Given the description of an element on the screen output the (x, y) to click on. 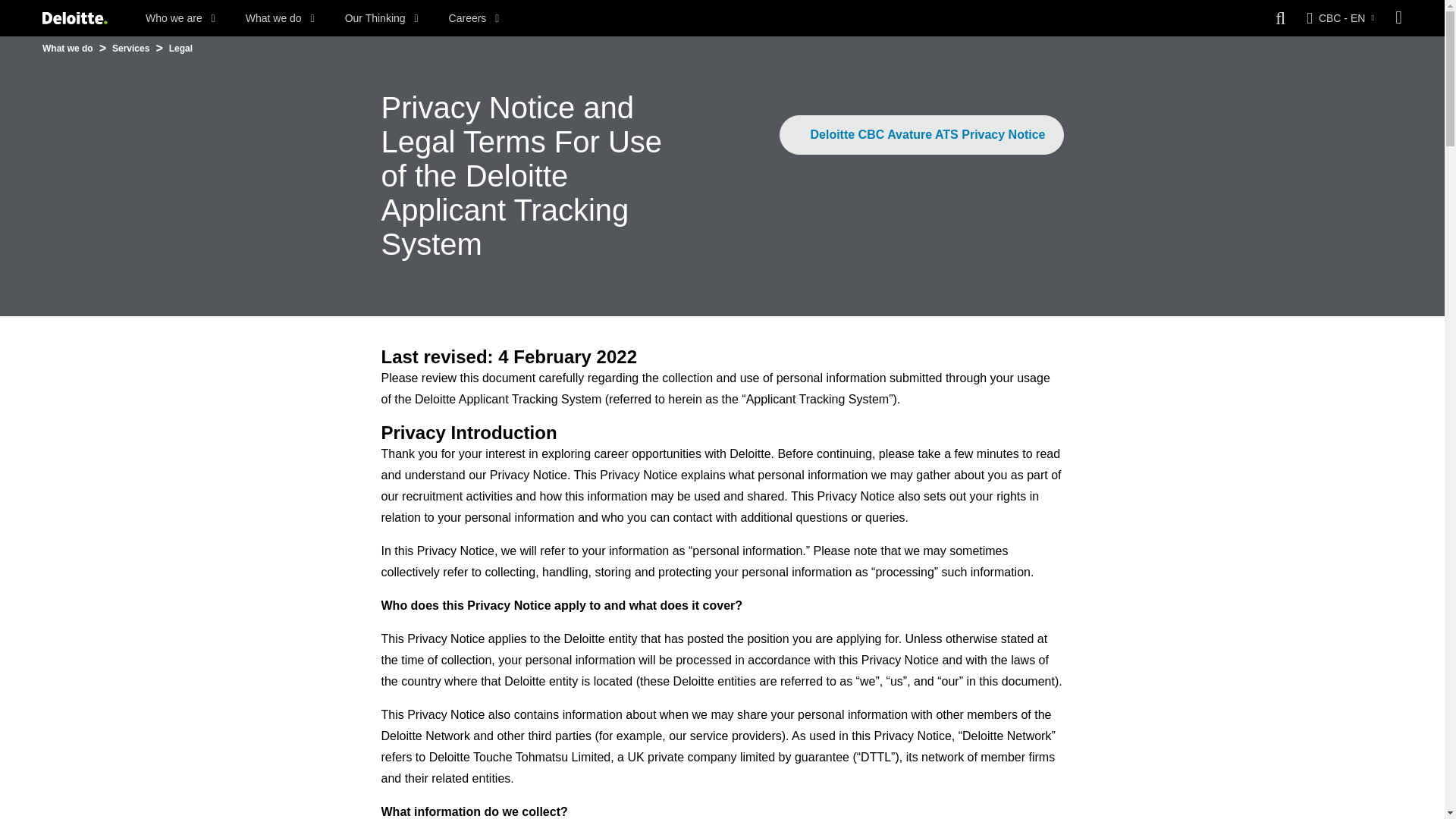
Careers (473, 18)
Deloitte (74, 18)
Who we are (180, 18)
What we do (280, 18)
Our Thinking (382, 18)
